Given the description of an element on the screen output the (x, y) to click on. 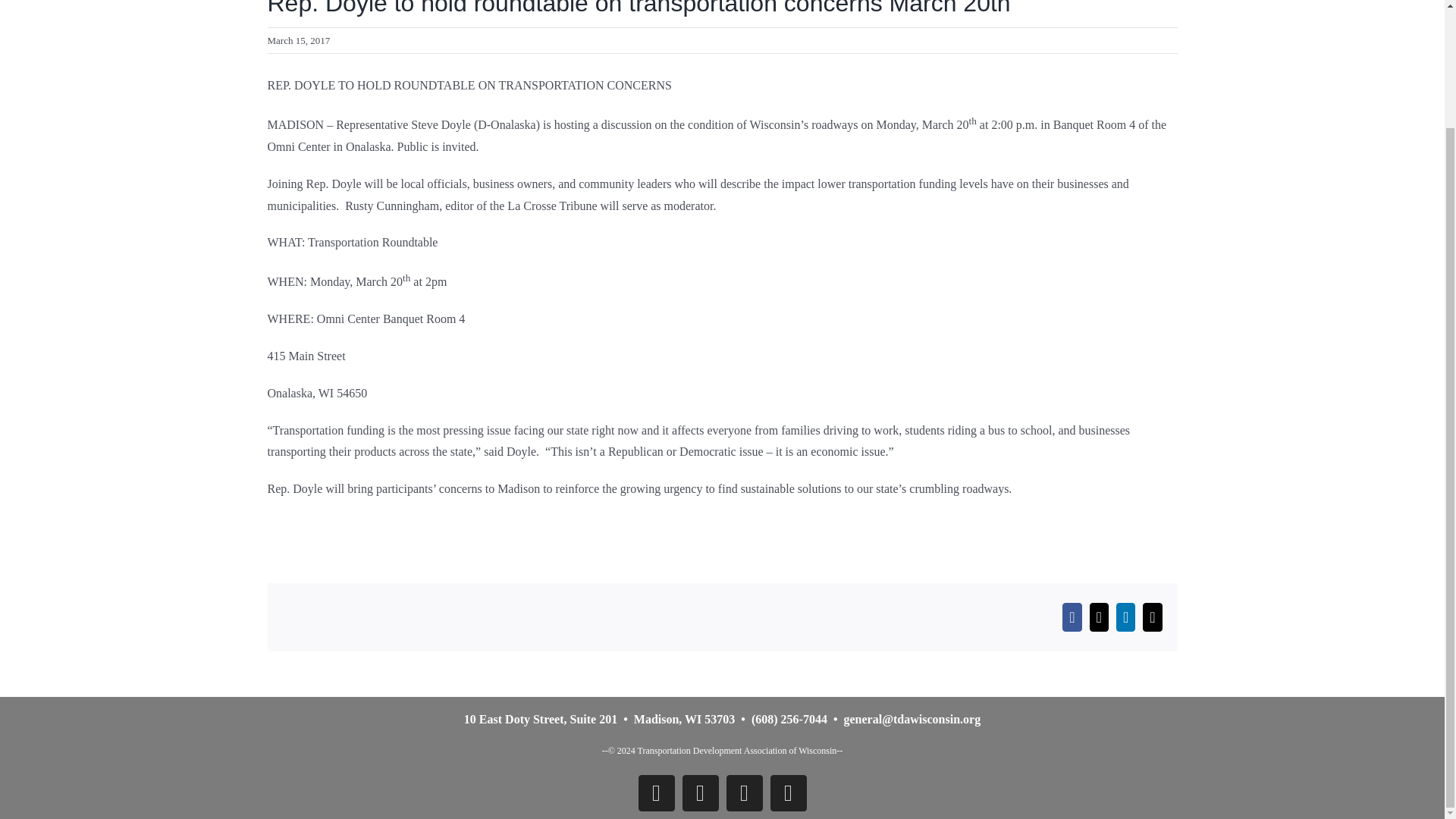
X (700, 792)
LinkedIn (744, 792)
Facebook (657, 792)
Vimeo (788, 792)
